Given the description of an element on the screen output the (x, y) to click on. 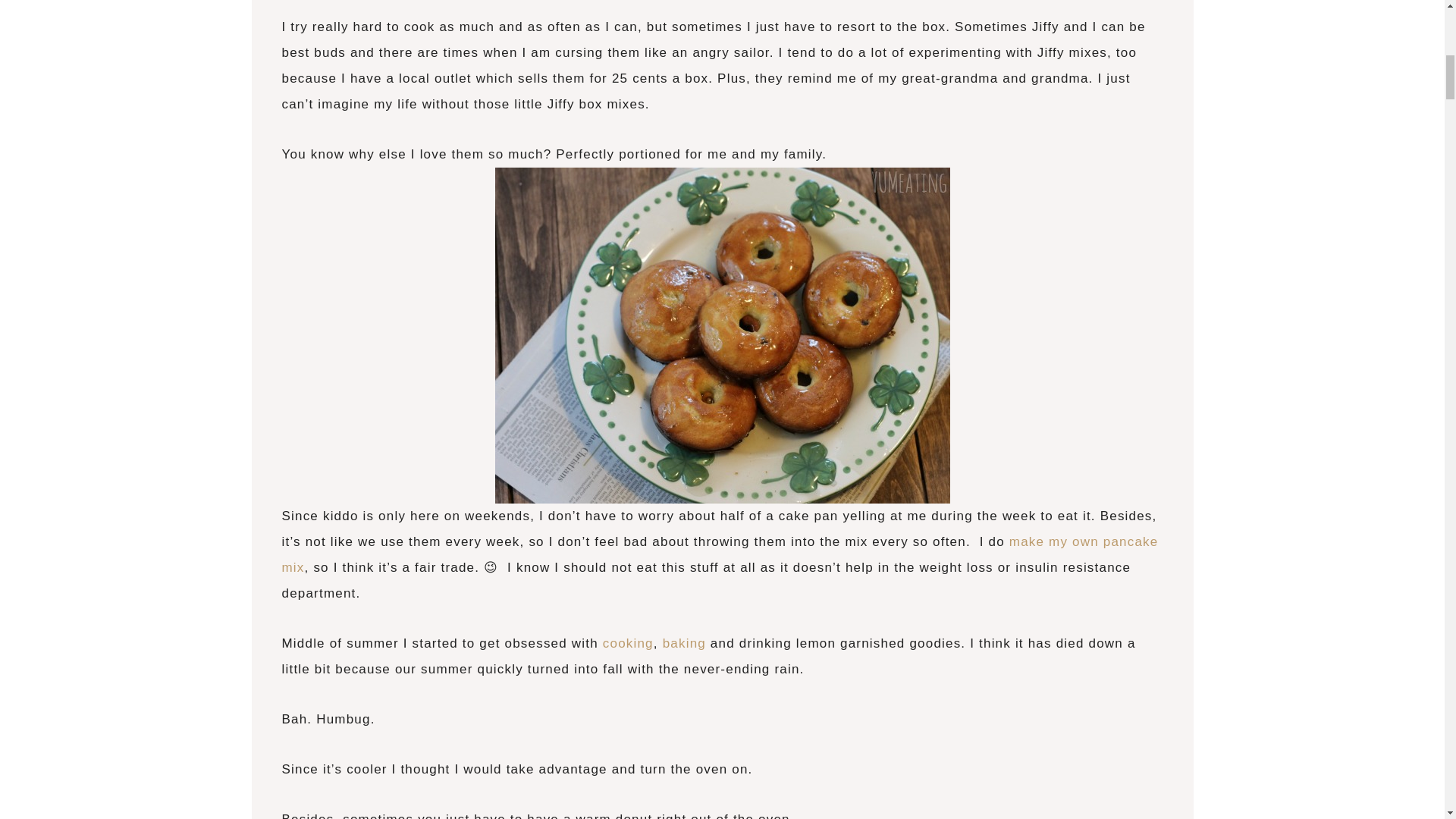
How to Make Your Own Sugar-Free Pancake Mix (720, 554)
Lemon Garlic Pork Loin (627, 643)
Lemon Loaf with Lemon Drizzle (684, 643)
